Given the description of an element on the screen output the (x, y) to click on. 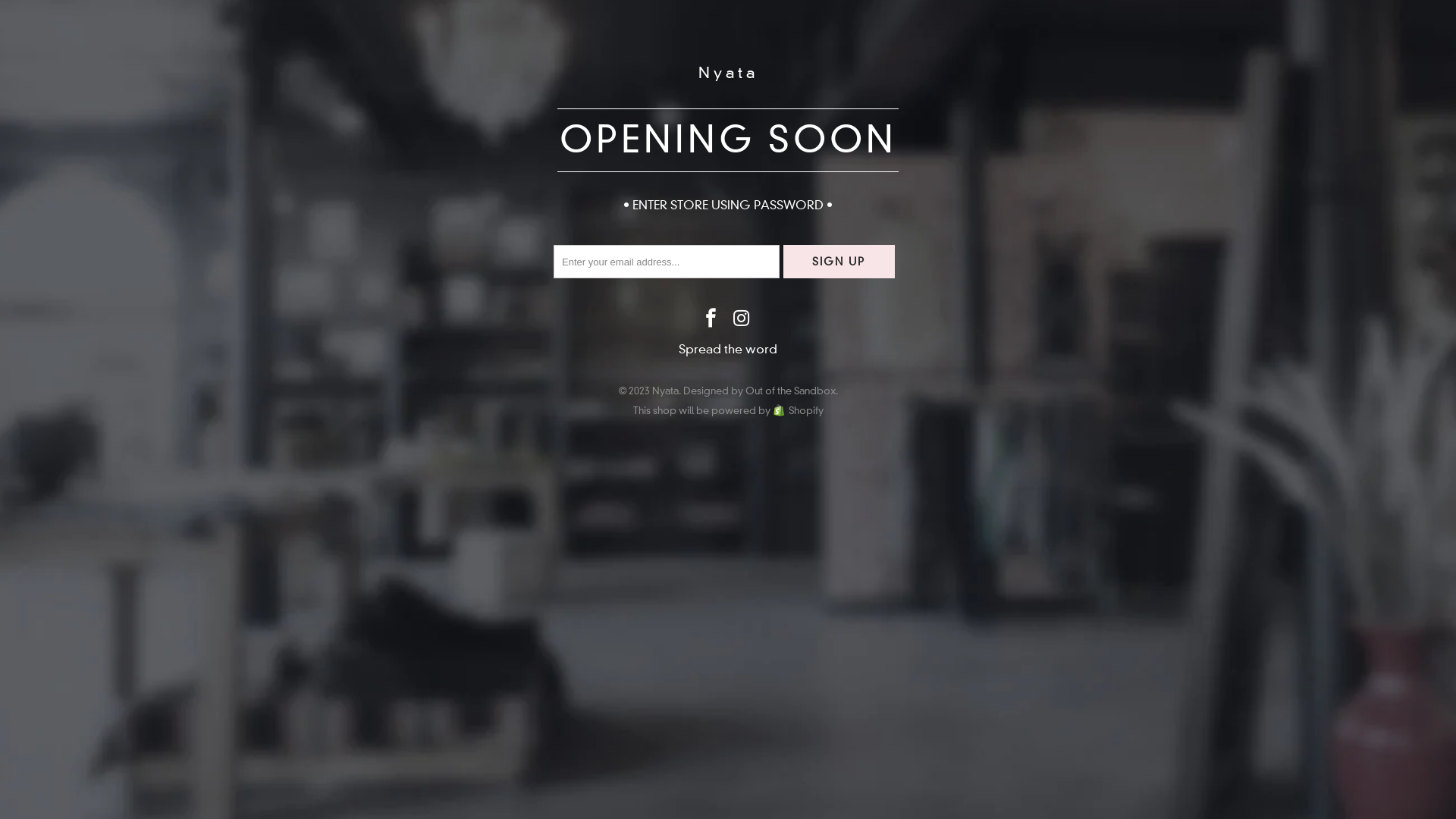
Shopify Element type: text (796, 410)
Nyata on Instagram Element type: hover (741, 318)
Sign Up Element type: text (838, 261)
Designed by Out of the Sandbox Element type: text (758, 390)
Enter Element type: text (823, 394)
Nyata on Facebook Element type: hover (711, 318)
